Given the description of an element on the screen output the (x, y) to click on. 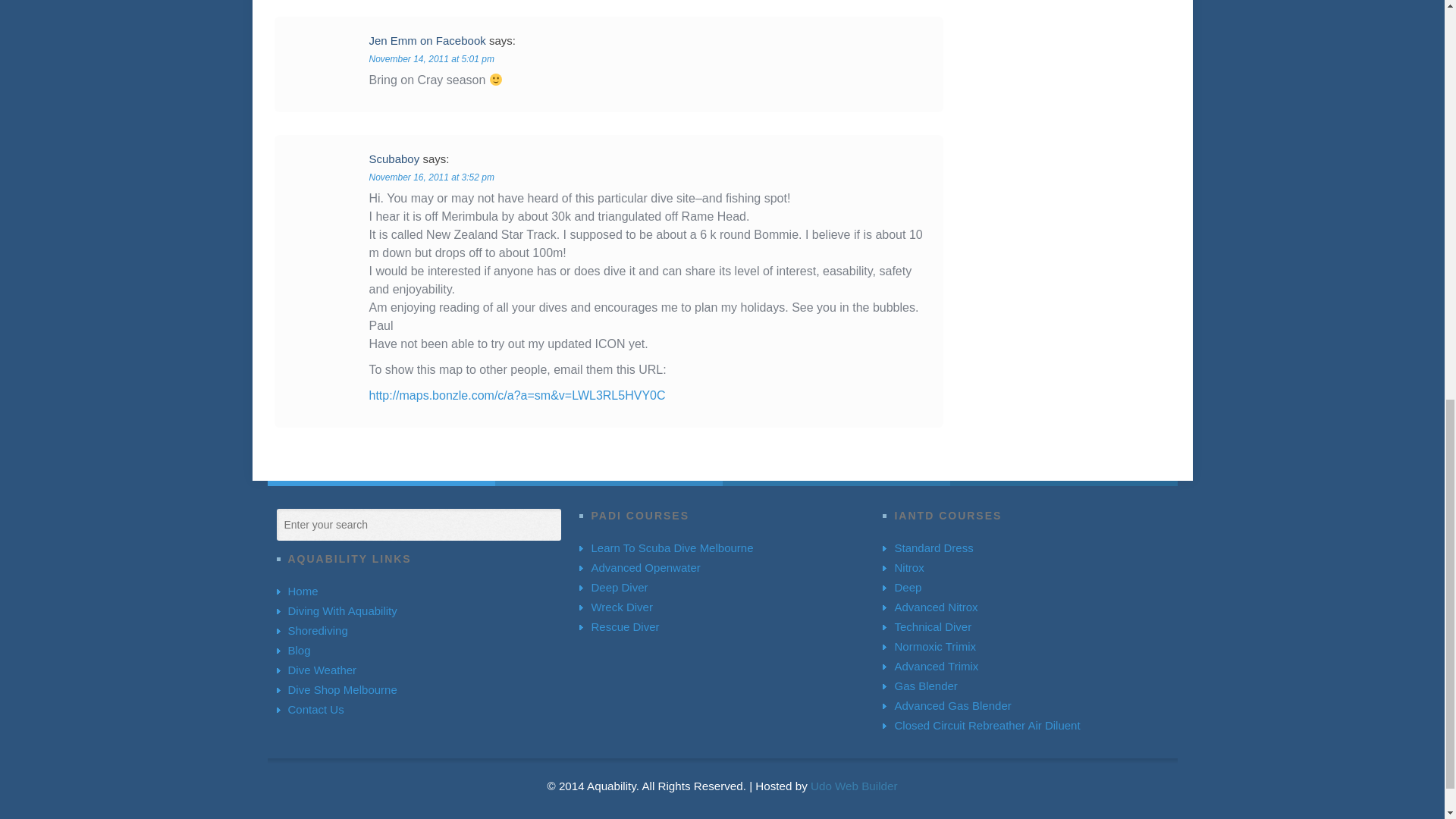
Search (290, 521)
